Given the description of an element on the screen output the (x, y) to click on. 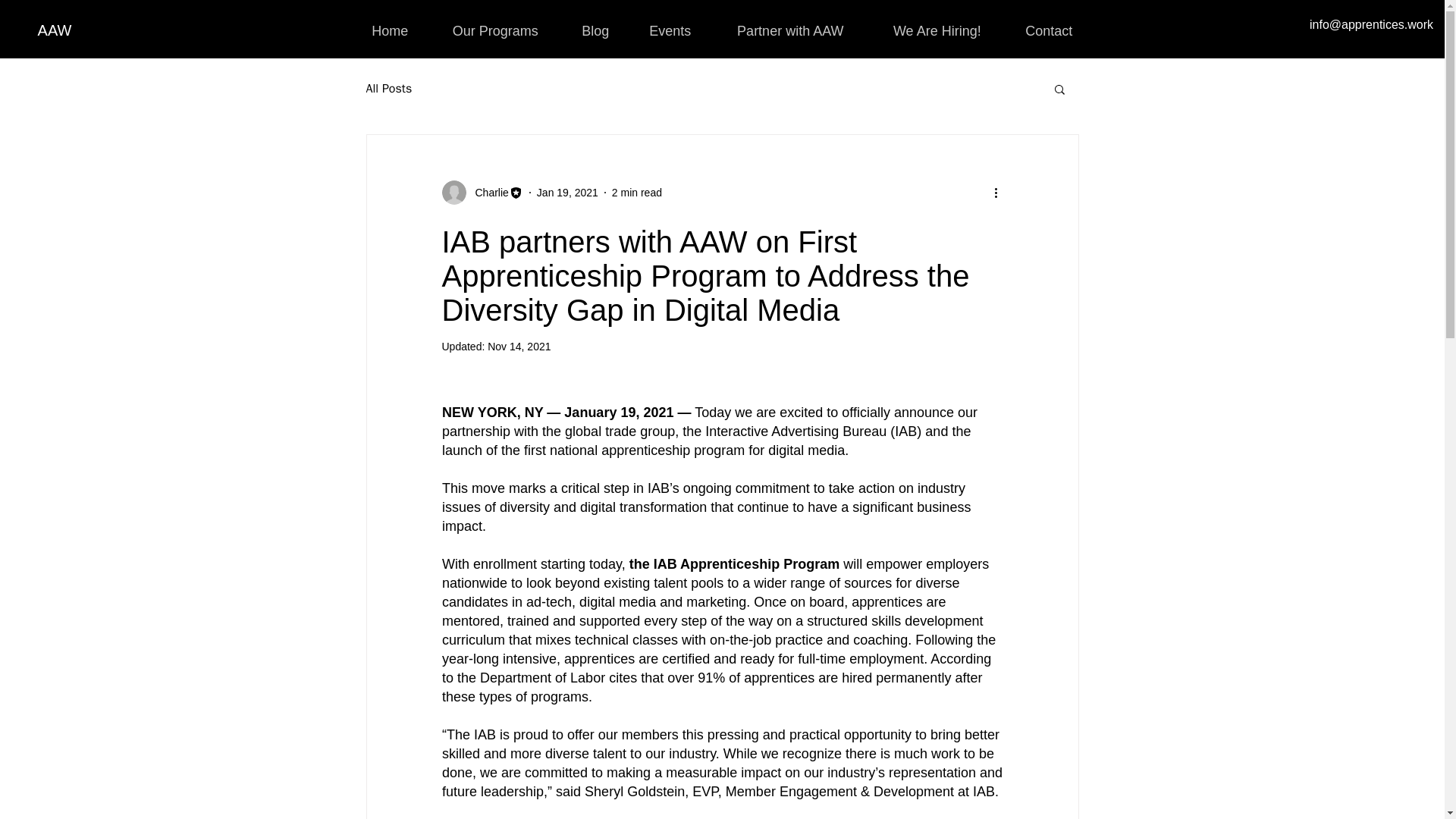
Charlie (481, 192)
2 min read (636, 192)
Blog (595, 24)
Nov 14, 2021 (518, 346)
We Are Hiring! (936, 24)
Home (389, 24)
Contact (1048, 24)
All Posts (388, 88)
Partner with AAW (790, 24)
Jan 19, 2021 (567, 192)
